Given the description of an element on the screen output the (x, y) to click on. 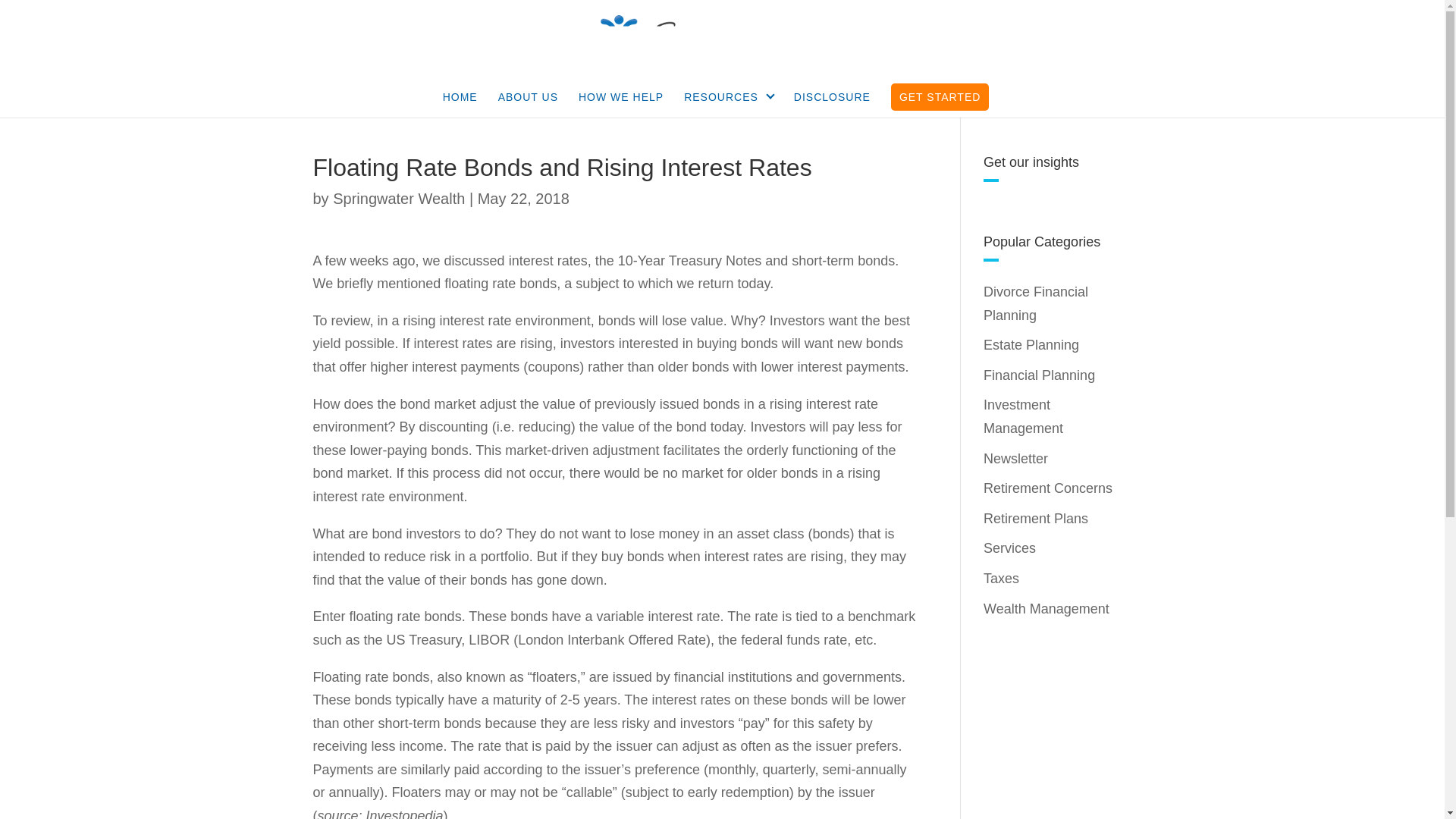
Springwater Wealth (398, 198)
ABOUT US (527, 104)
HOW WE HELP (620, 104)
Financial Planning (1039, 375)
Wealth Management (1046, 608)
Newsletter (1016, 458)
DISCLOSURE (831, 104)
Posts by Springwater Wealth (398, 198)
Retirement Plans (1035, 518)
RESOURCES (728, 104)
